Given the description of an element on the screen output the (x, y) to click on. 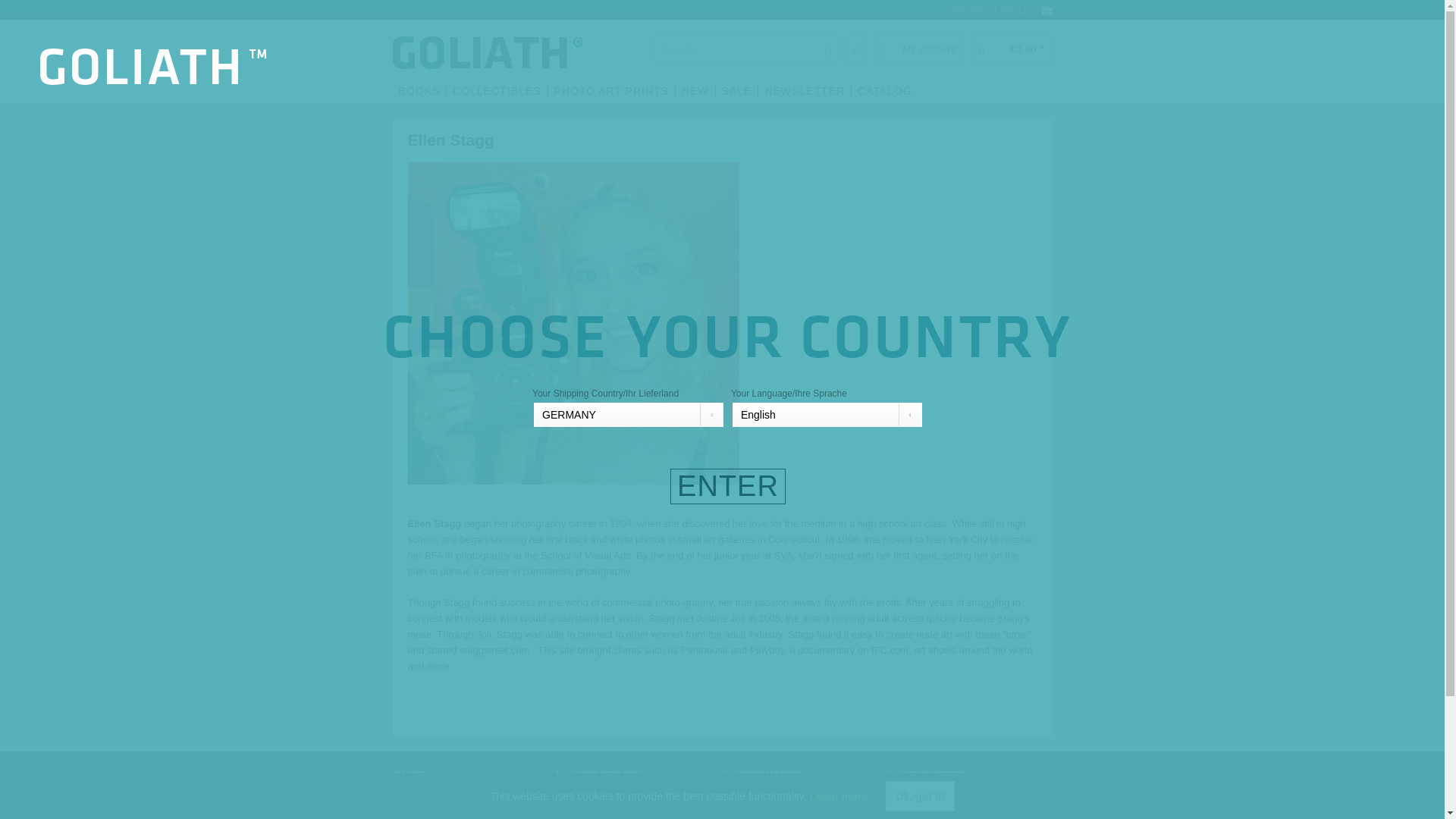
NEW (694, 90)
NEWSLETTER (803, 90)
NEWSLETTER (803, 90)
CATALOG (884, 90)
My account (920, 50)
NEW (694, 90)
SALE (736, 90)
SALE (736, 90)
PHOTO ART PRINTS (611, 90)
NEWSLETTER (803, 90)
Enter (727, 486)
My account (920, 50)
CATALOG (884, 90)
PHOTO ART PRINTS (611, 90)
